Given the description of an element on the screen output the (x, y) to click on. 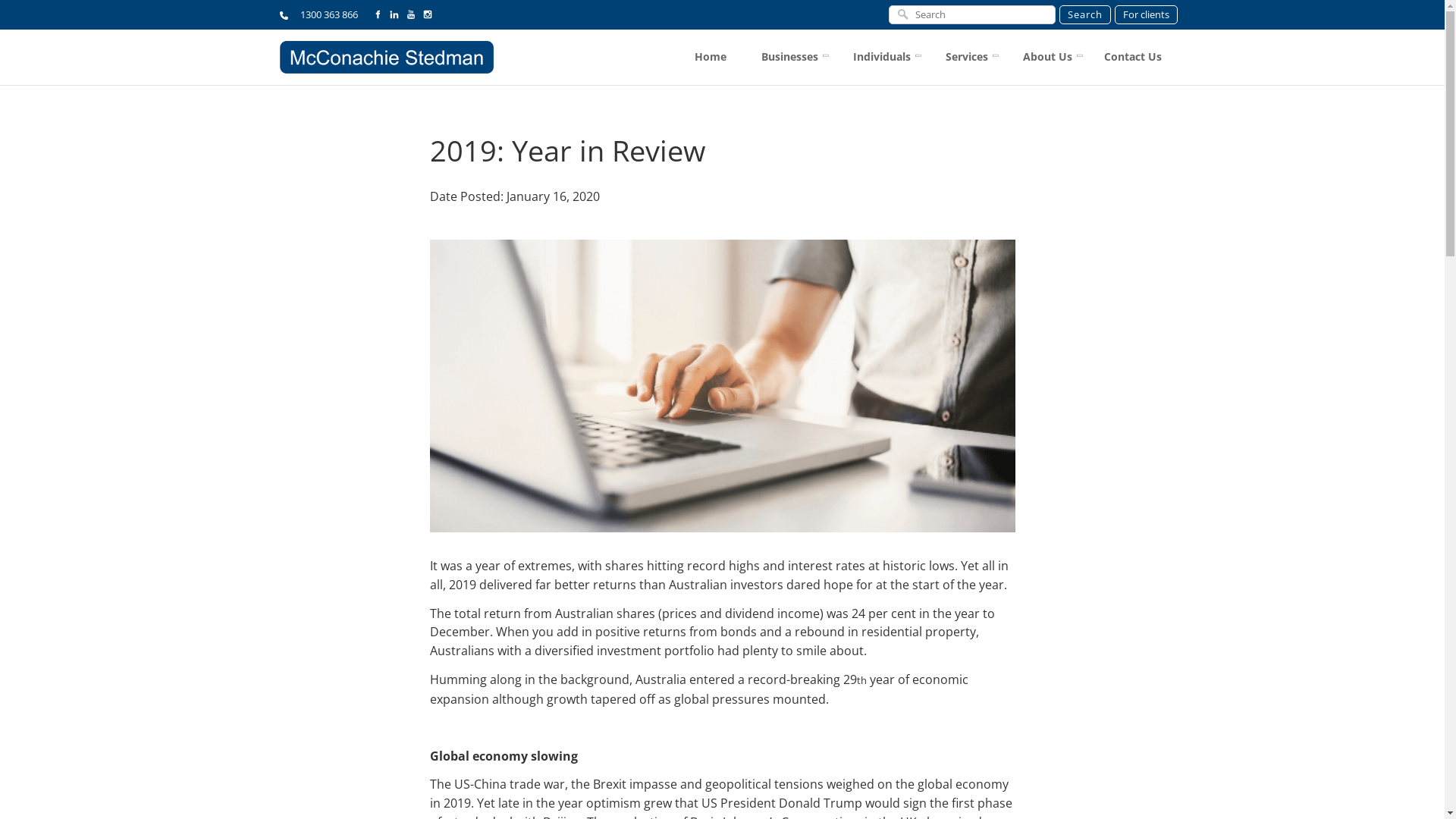
Businesses Element type: text (787, 57)
Facebook Element type: hover (377, 14)
For clients Element type: text (1145, 14)
About Us Element type: text (1046, 57)
Search Element type: text (1084, 14)
Individuals Element type: text (880, 57)
Contact Us Element type: text (1131, 57)
LinkedIn Element type: hover (393, 14)
Instagram Element type: hover (427, 14)
   1300 363 866 Element type: text (318, 13)
Services Element type: text (965, 57)
Youtube Element type: hover (410, 14)
Home Element type: text (709, 57)
